Given the description of an element on the screen output the (x, y) to click on. 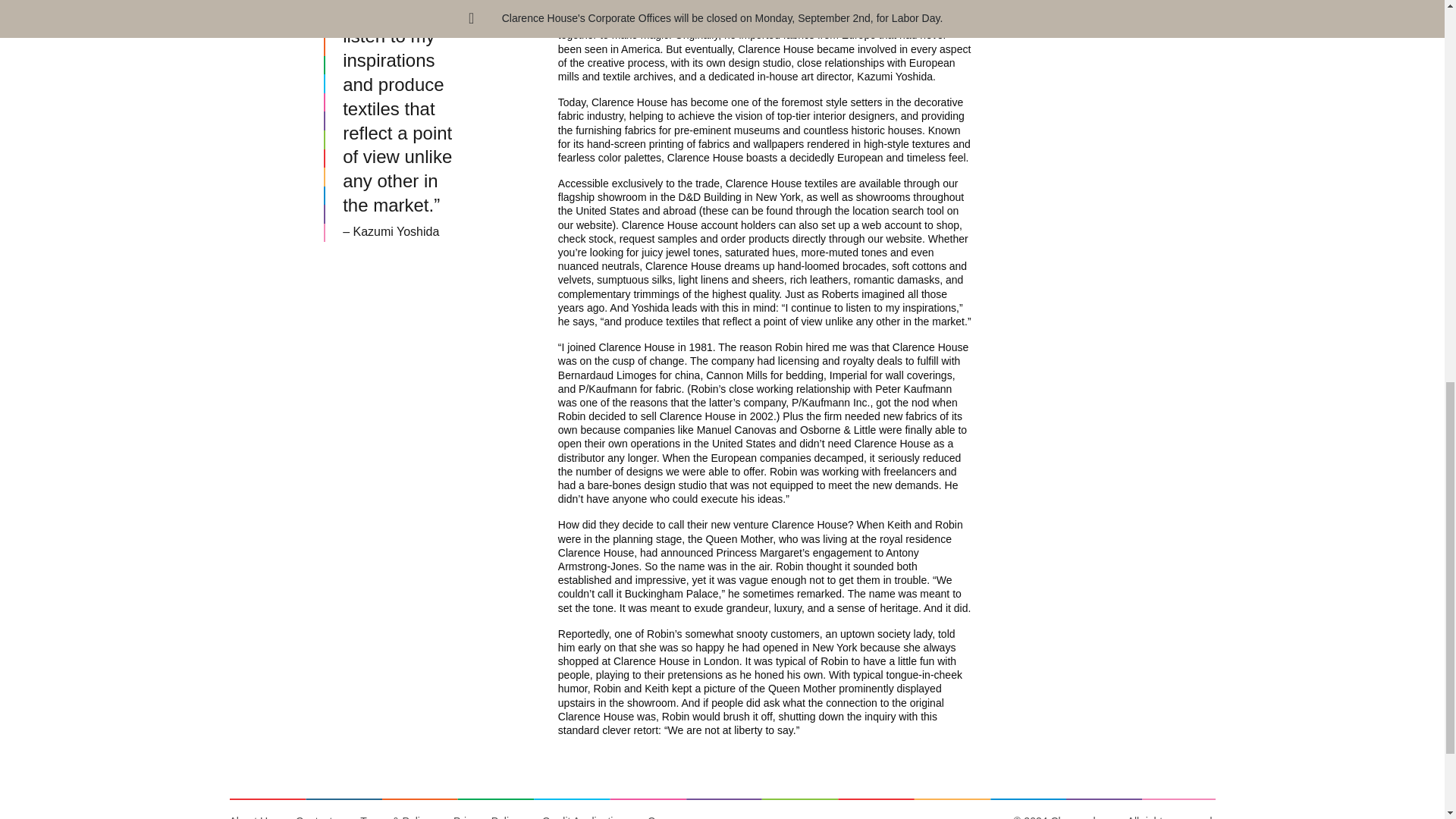
Careers (666, 816)
About Us (255, 816)
Credit Application (583, 816)
Contacts (316, 816)
Privacy Policy (486, 816)
